Given the description of an element on the screen output the (x, y) to click on. 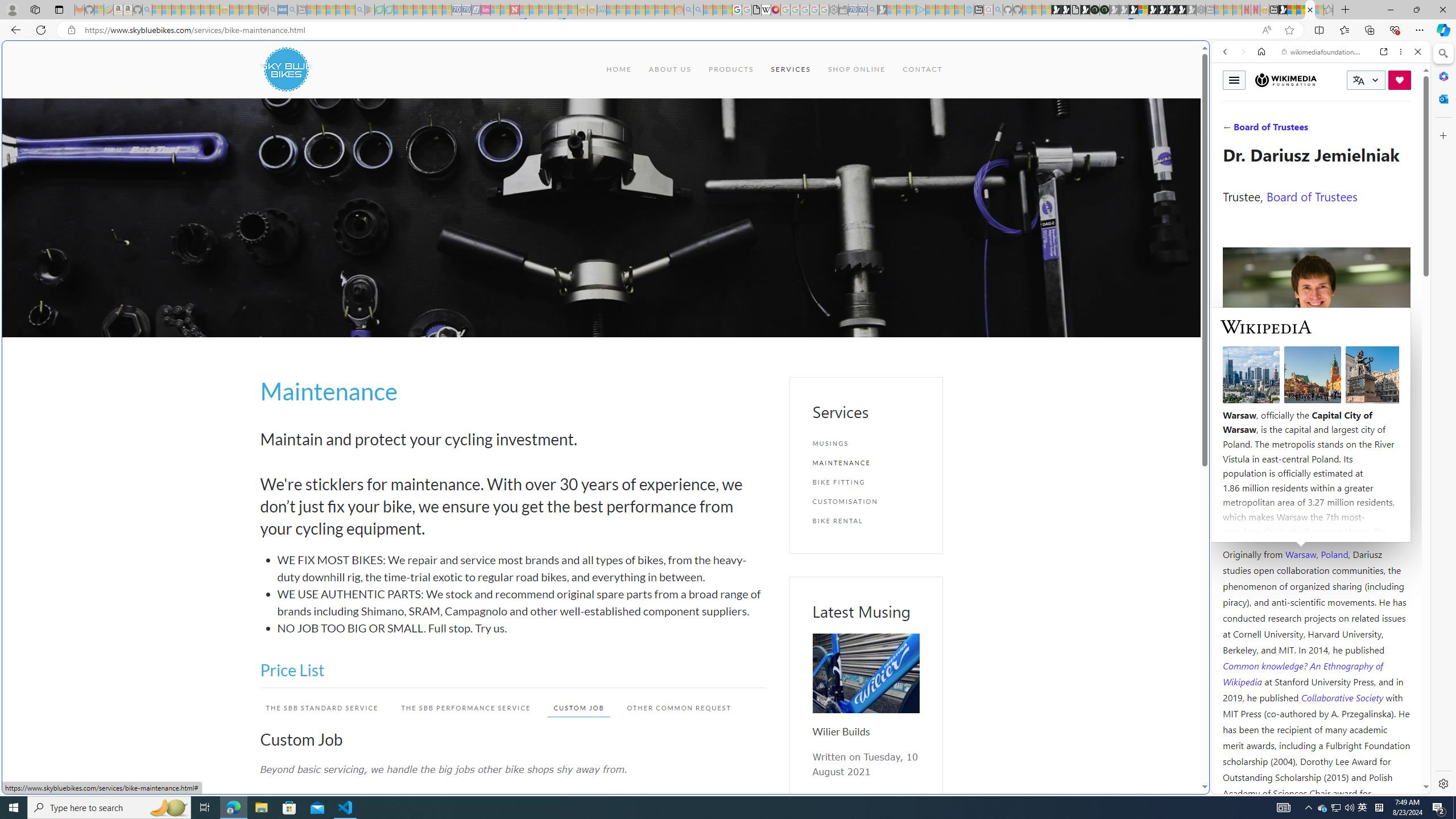
ABOUT US (669, 68)
BIKE FITTING (865, 481)
CUSTOMISATION (865, 501)
